Given the description of an element on the screen output the (x, y) to click on. 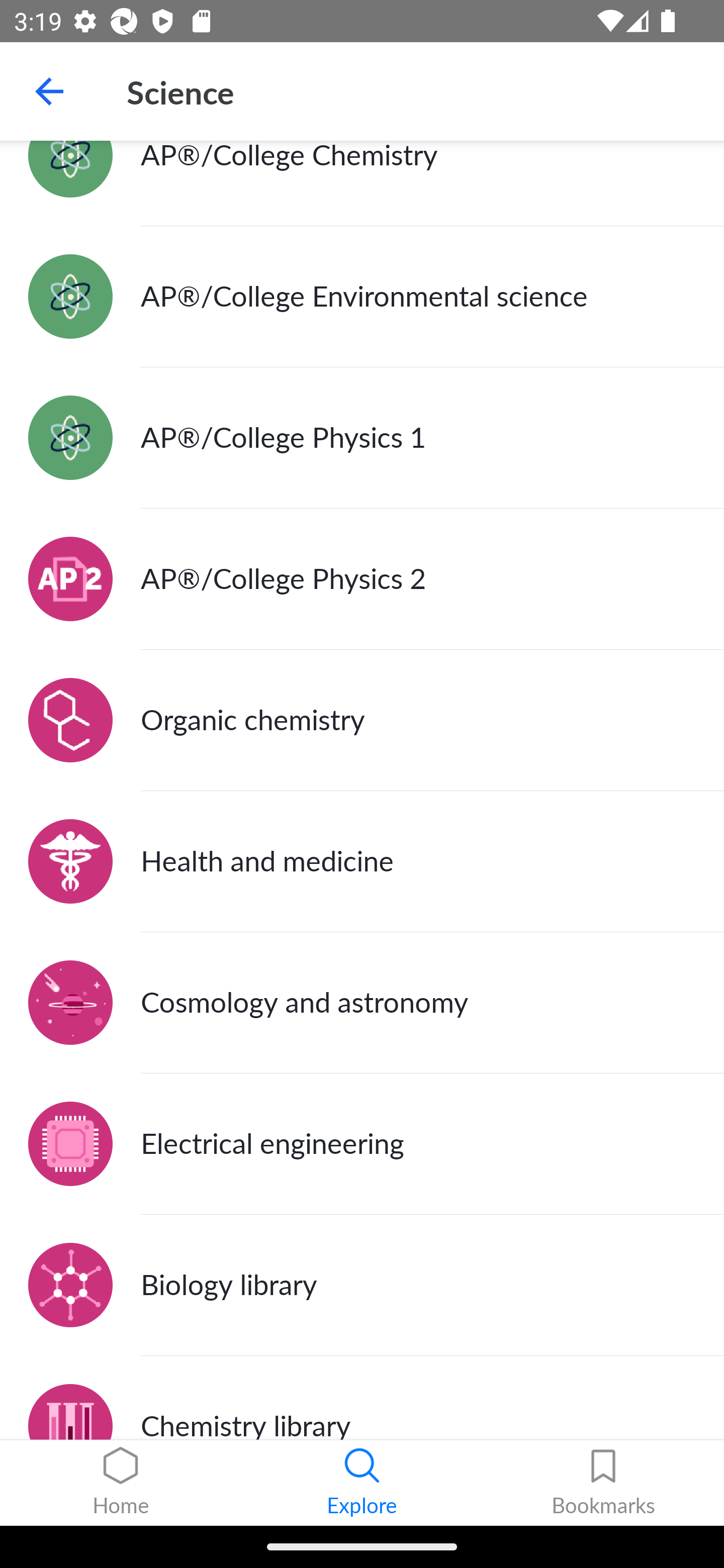
Navigate up (49, 91)
AP®︎/College Chemistry (362, 183)
AP®︎/College Environmental science (362, 295)
AP®︎/College Physics 1 (362, 437)
AP®︎/College Physics 2 (362, 578)
Organic chemistry (362, 719)
Health and medicine (362, 861)
Cosmology and astronomy (362, 1003)
Electrical engineering (362, 1144)
Biology library (362, 1285)
Chemistry library (362, 1397)
Home (120, 1482)
Explore (361, 1482)
Bookmarks (603, 1482)
